Given the description of an element on the screen output the (x, y) to click on. 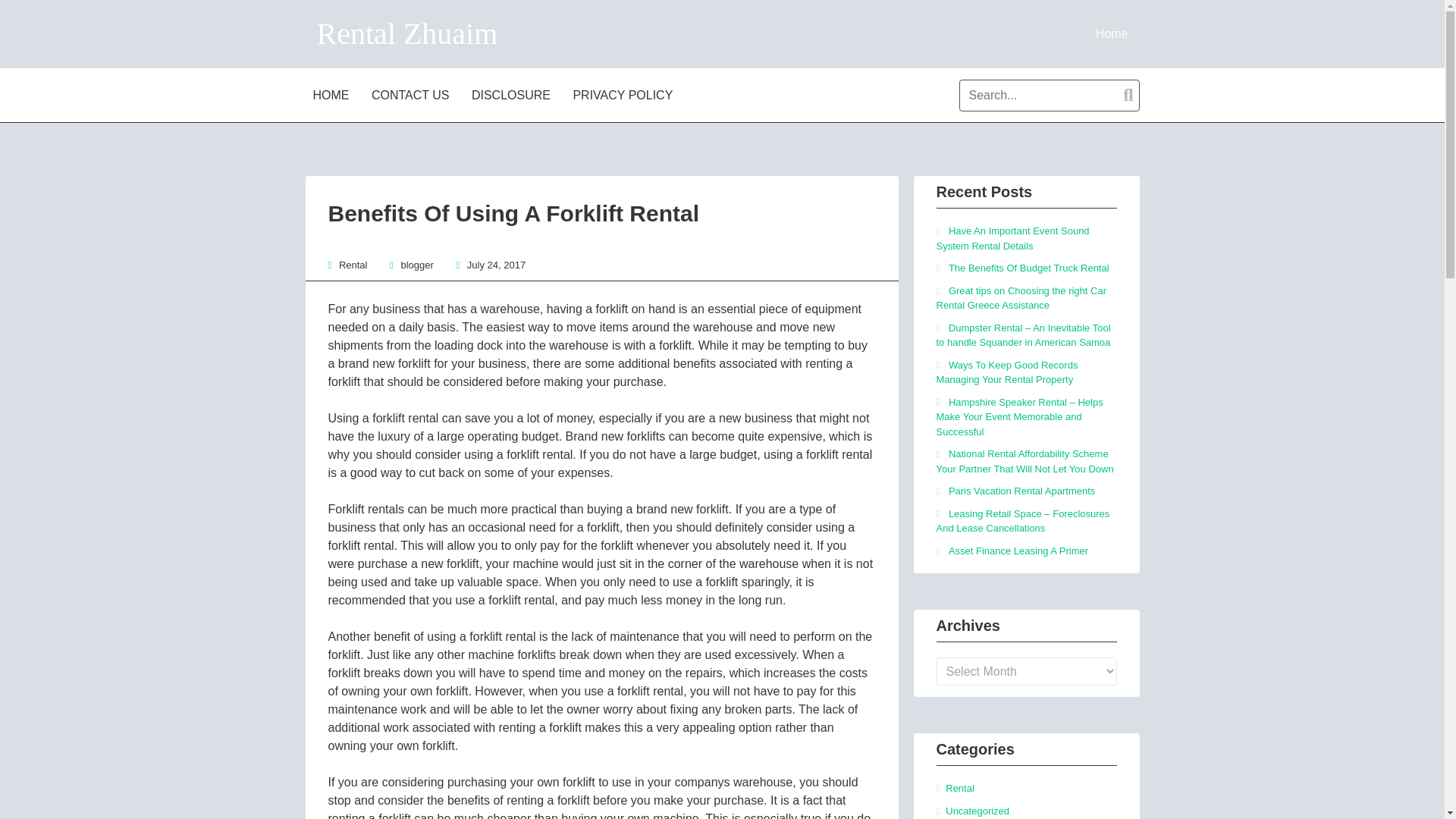
Search for: (1048, 95)
Uncategorized (976, 810)
SKIP TO CONTENT (358, 94)
Just about rental reviews (1112, 33)
Rental (959, 787)
Rental (353, 265)
The Benefits Of Budget Truck Rental (1029, 267)
Home (1112, 33)
Have An Important Event Sound System Rental Details (1012, 238)
DISCLOSURE (513, 94)
